Given the description of an element on the screen output the (x, y) to click on. 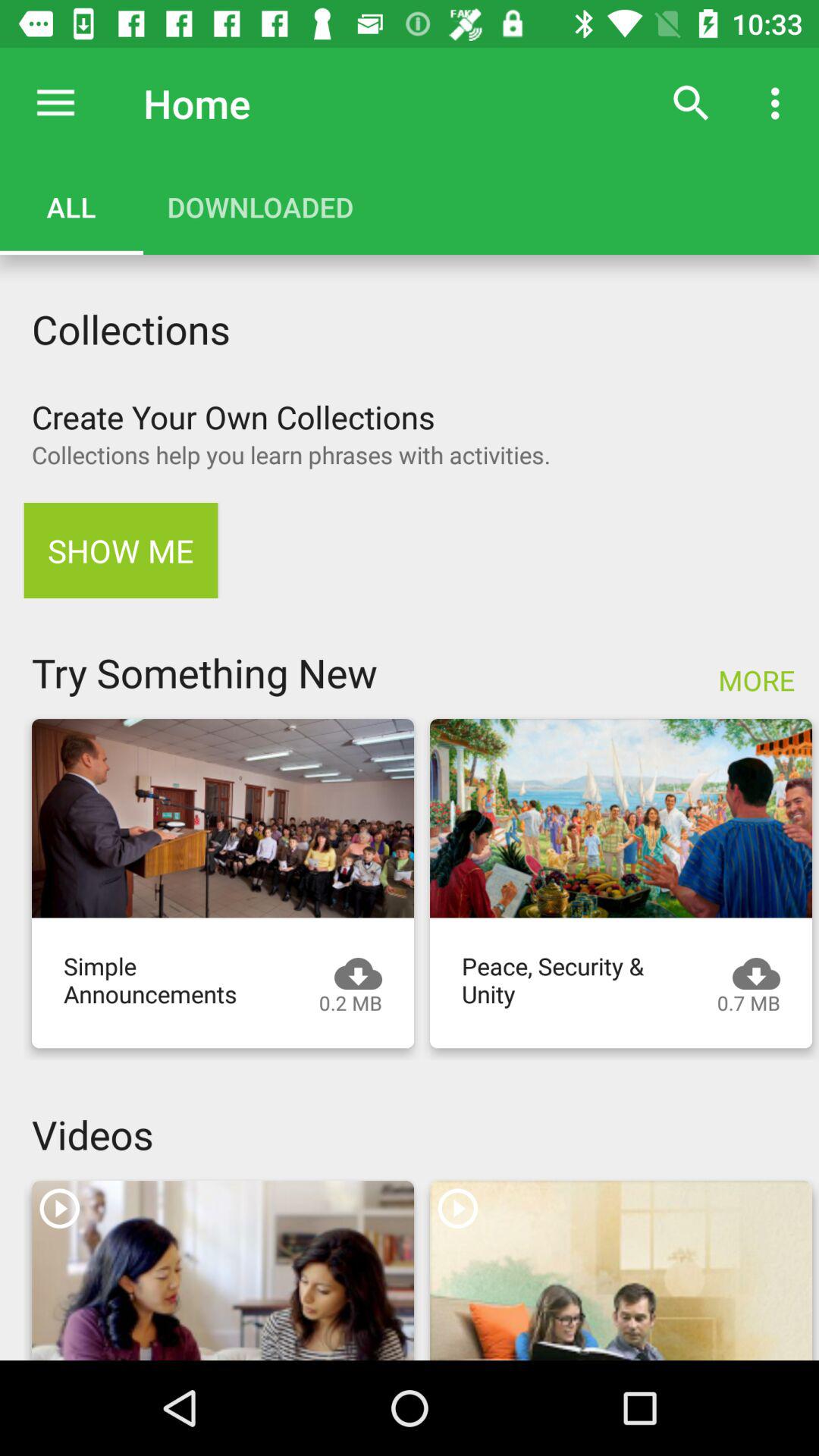
open menu (55, 103)
